Given the description of an element on the screen output the (x, y) to click on. 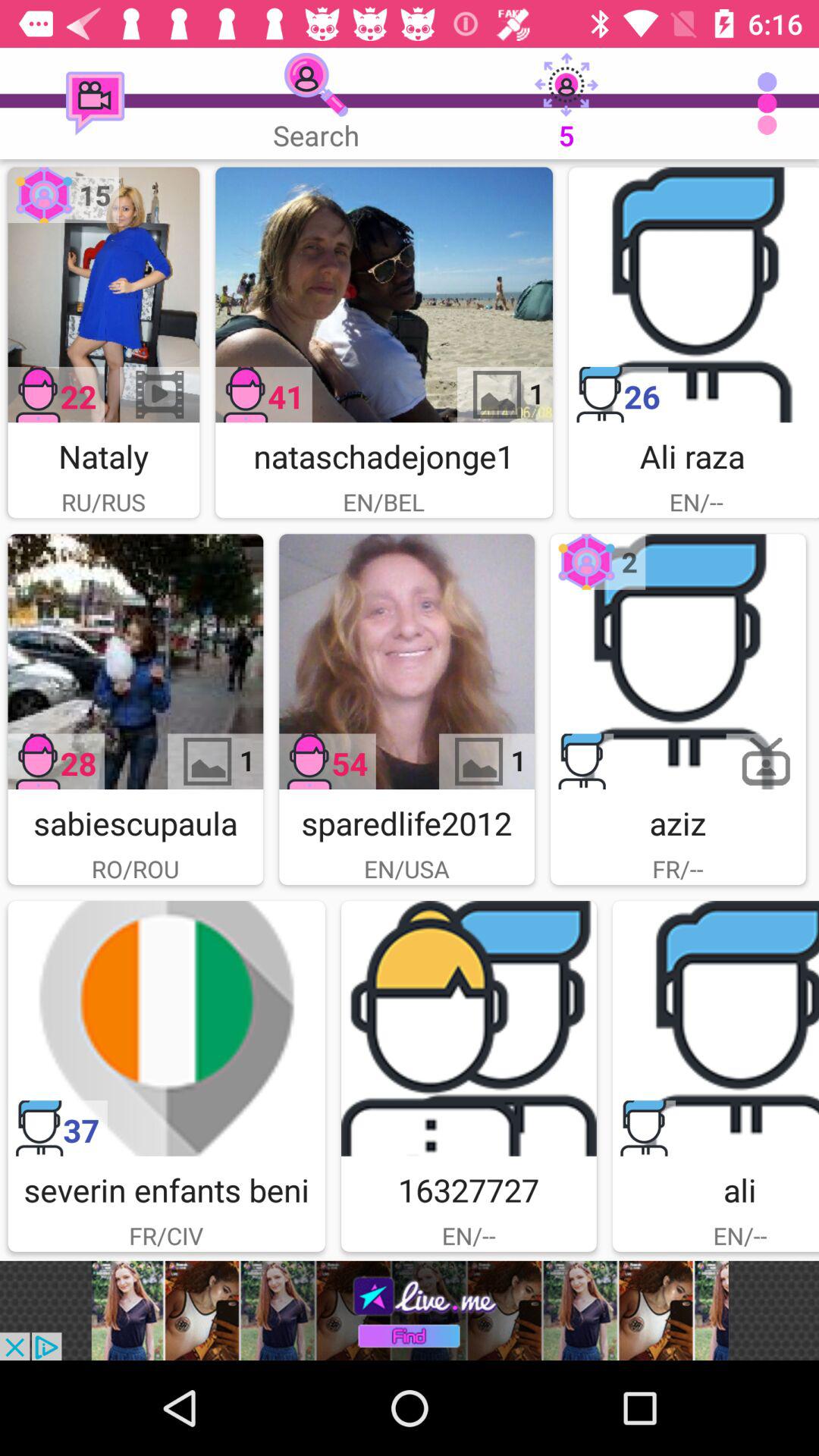
advertisement (135, 661)
